Given the description of an element on the screen output the (x, y) to click on. 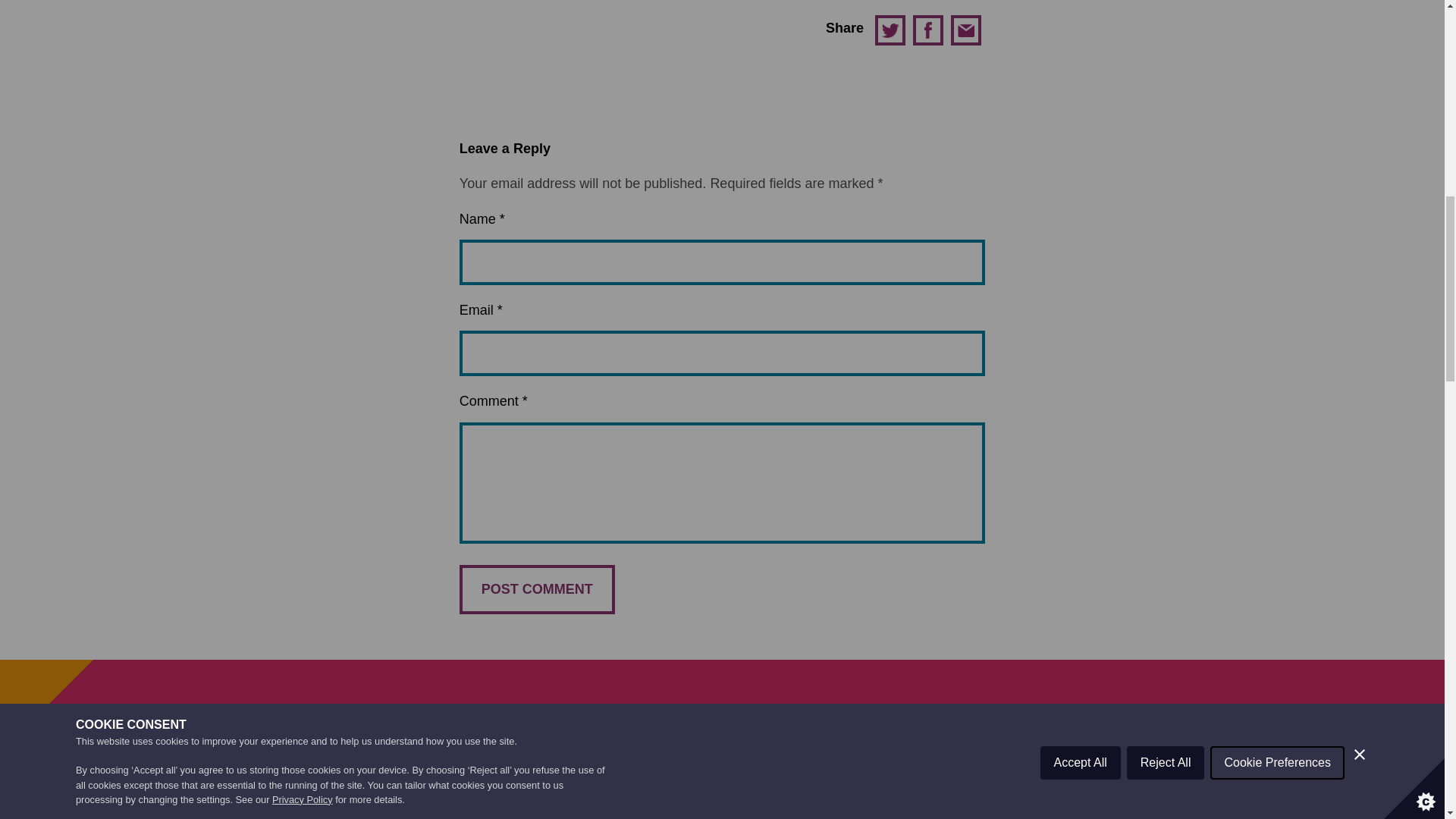
Privacy Policy (302, 14)
